Given the description of an element on the screen output the (x, y) to click on. 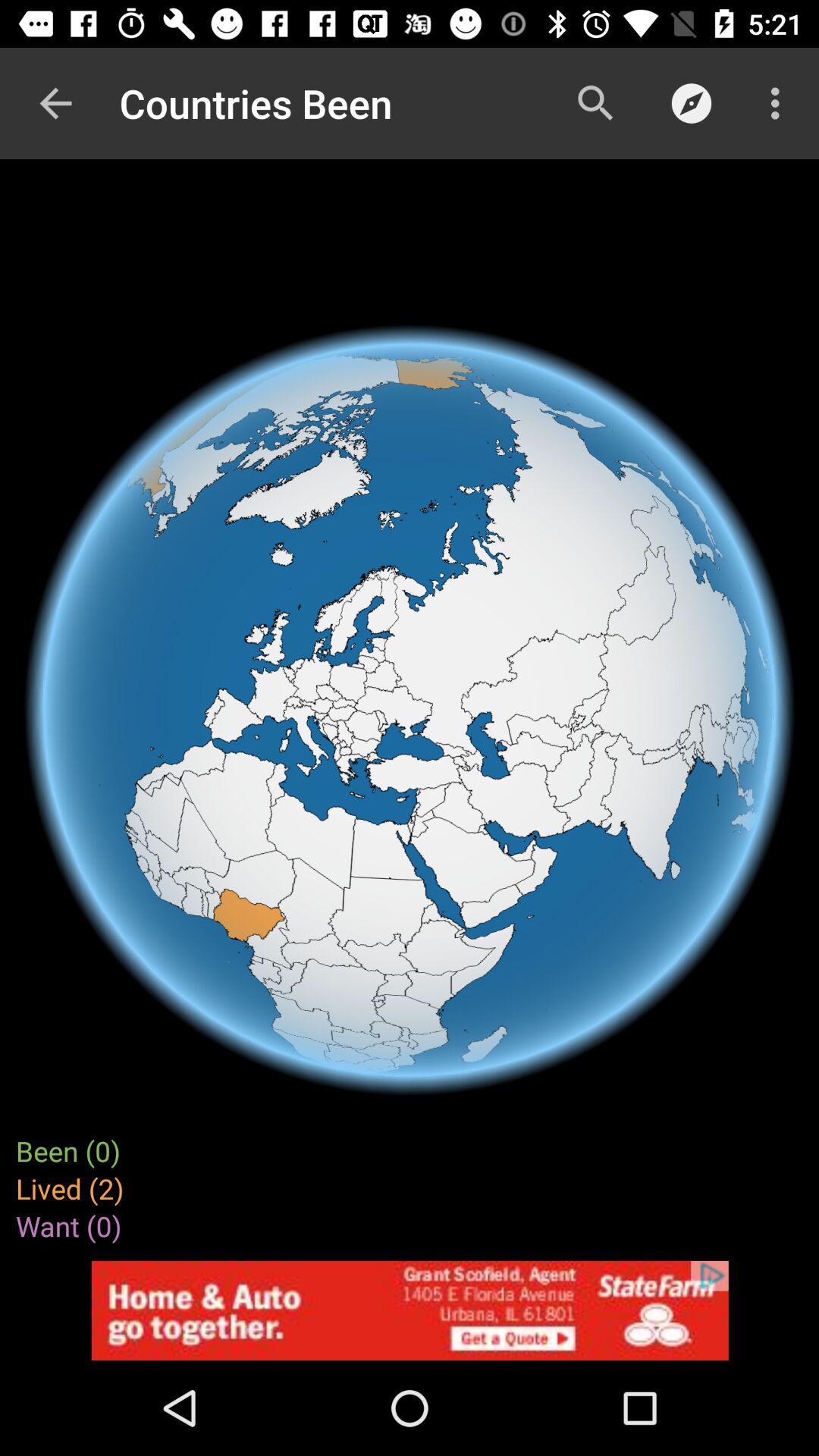
advertisement (409, 1310)
